Given the description of an element on the screen output the (x, y) to click on. 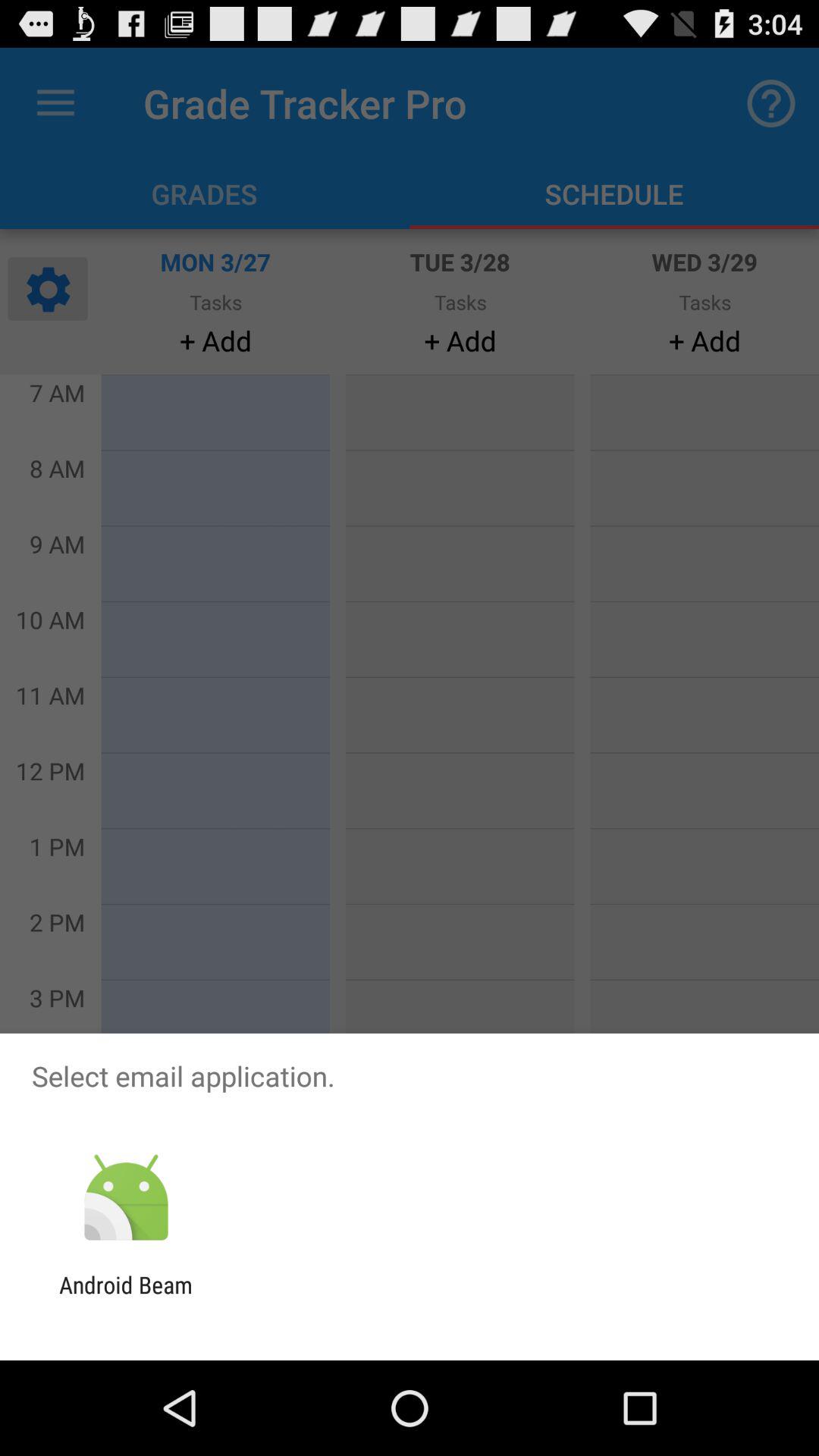
choose icon above android beam item (126, 1198)
